Given the description of an element on the screen output the (x, y) to click on. 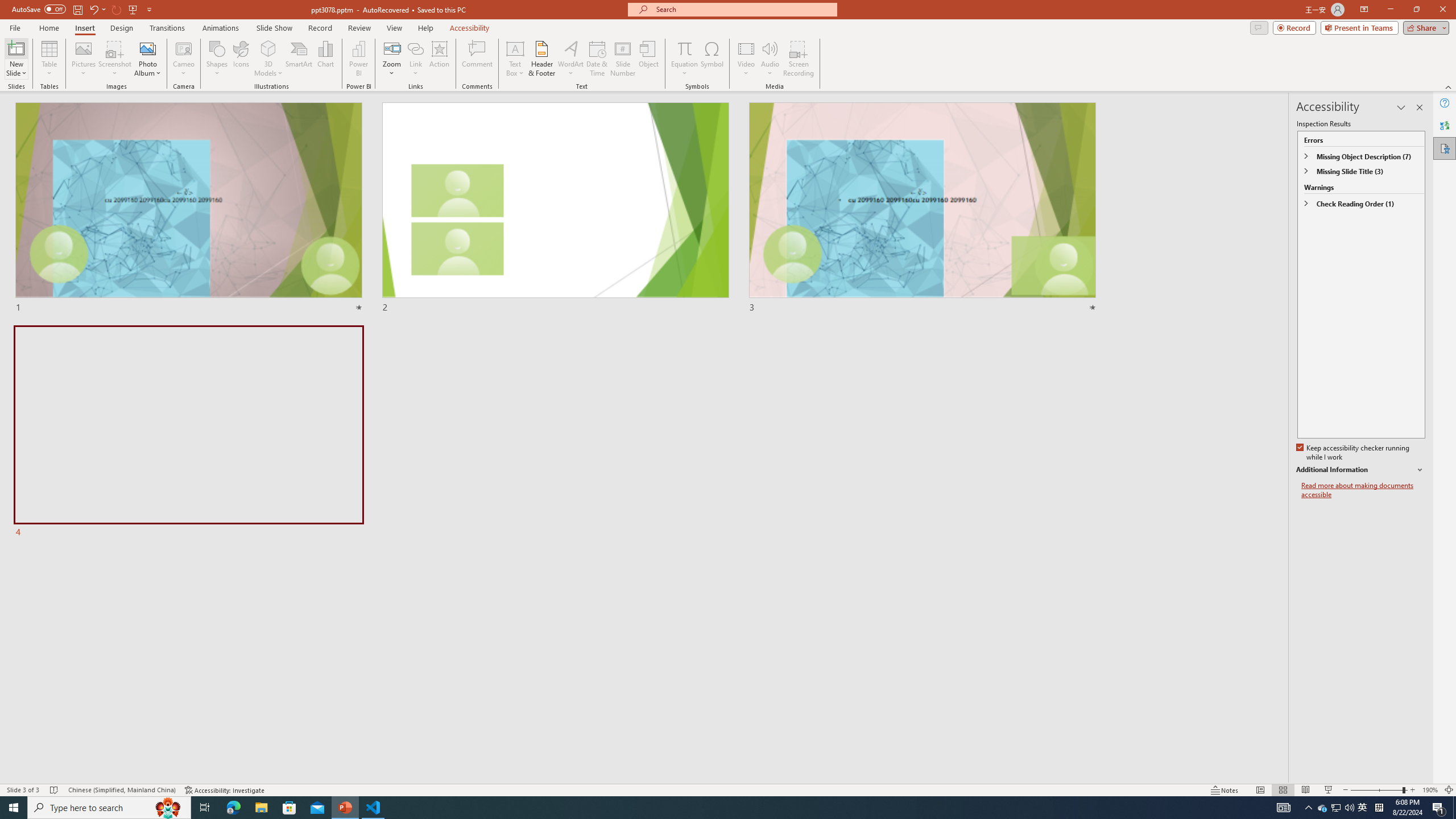
Comment (476, 58)
Icons (240, 58)
